Given the description of an element on the screen output the (x, y) to click on. 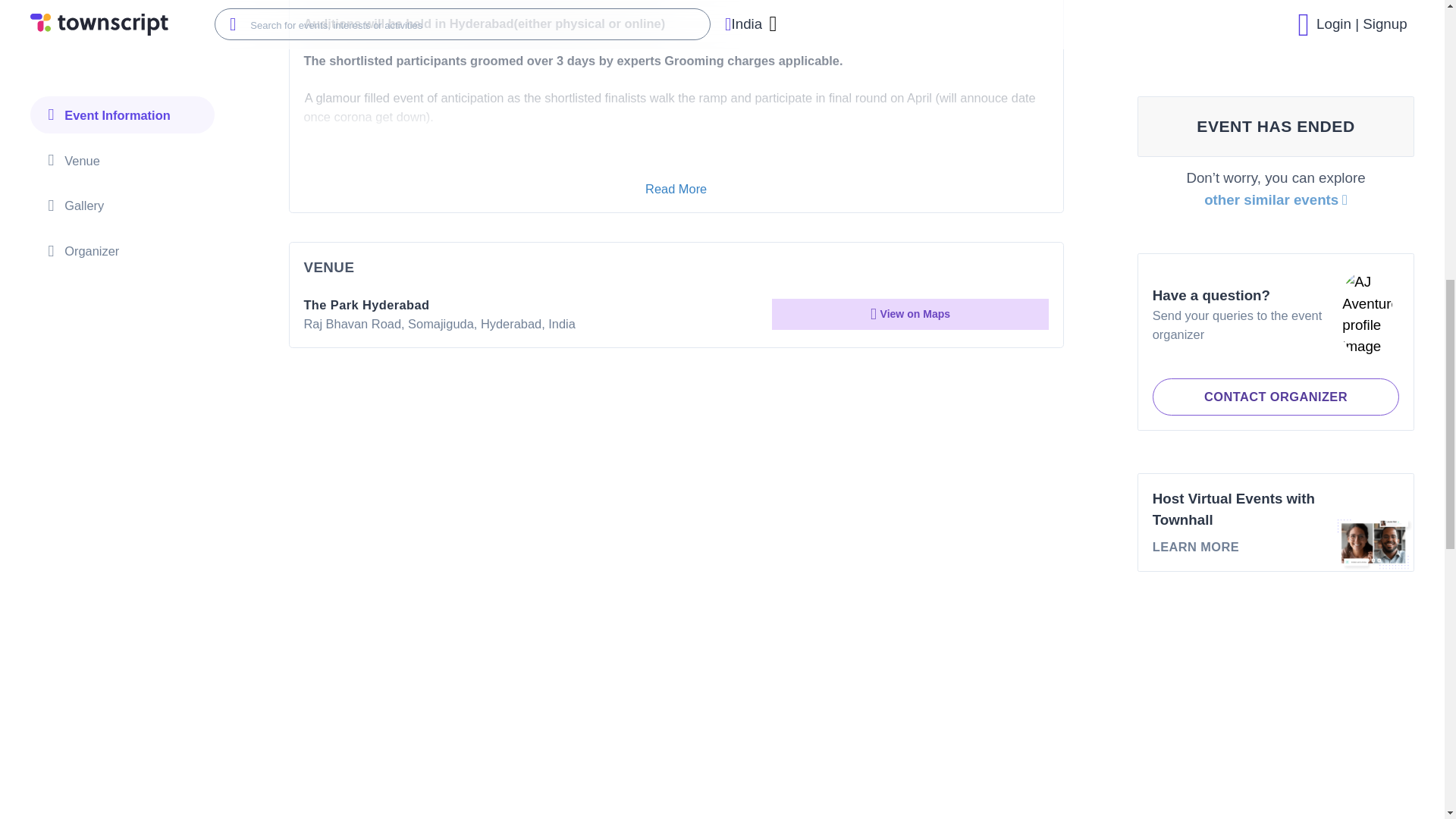
View on Maps (909, 326)
Read More (675, 189)
